Given the description of an element on the screen output the (x, y) to click on. 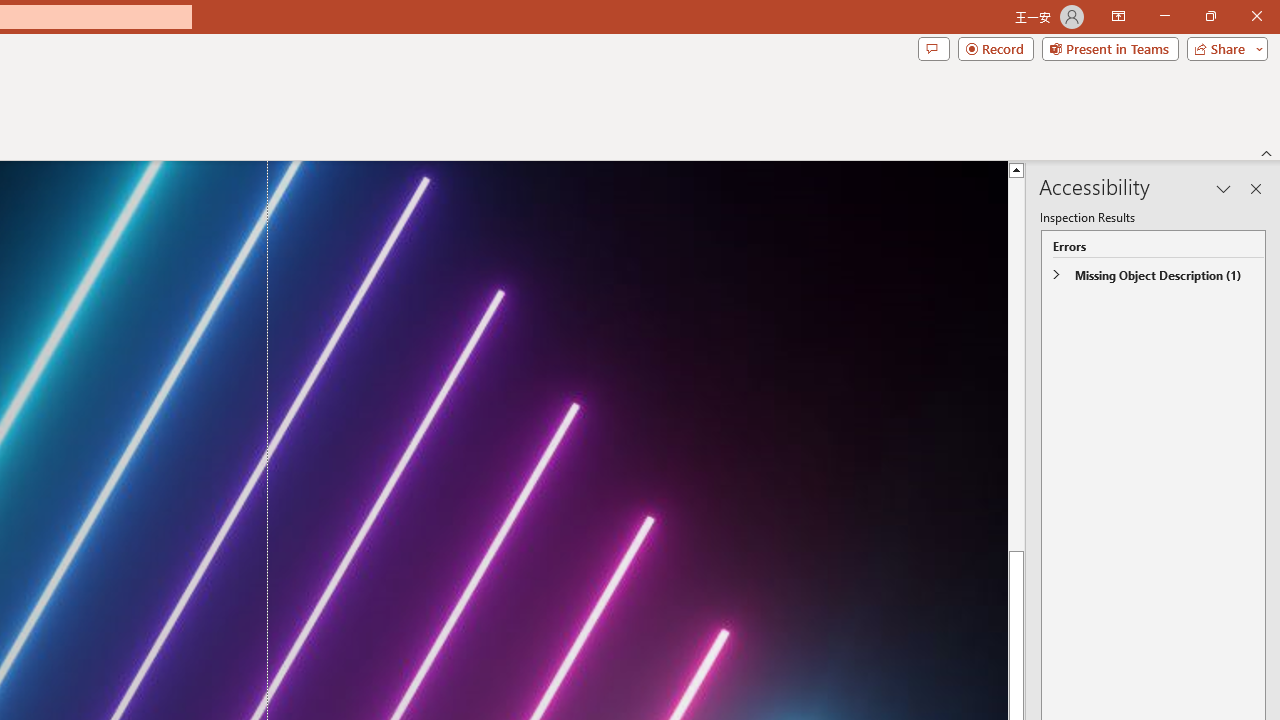
Comments (933, 48)
Close (1256, 16)
Present in Teams (1109, 48)
Share (1223, 48)
Collapse the Ribbon (1267, 152)
Ribbon Display Options (1118, 16)
Task Pane Options (1224, 188)
Restore Down (1210, 16)
Close pane (1256, 188)
Minimize (1164, 16)
